Given the description of an element on the screen output the (x, y) to click on. 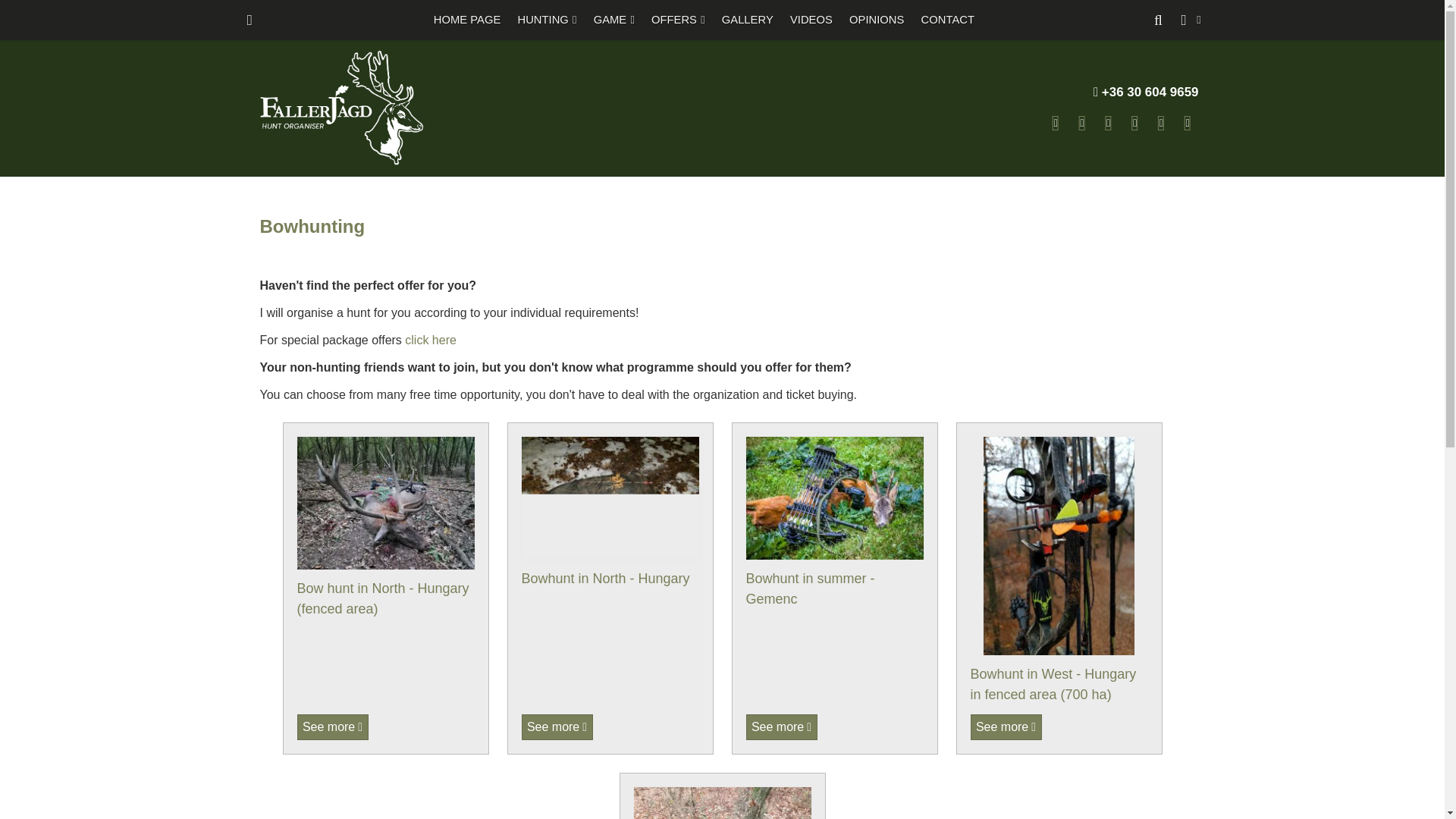
Instagram (1161, 123)
VIDEOS (811, 20)
RSS (1187, 123)
GAME (614, 20)
E-mail (1056, 123)
OPINIONS (876, 20)
OFFERS (678, 20)
CONTACT (948, 20)
HUNTING (546, 20)
GALLERY (747, 20)
HOME PAGE (467, 20)
Phone (1082, 123)
Youtube (1134, 123)
